Given the description of an element on the screen output the (x, y) to click on. 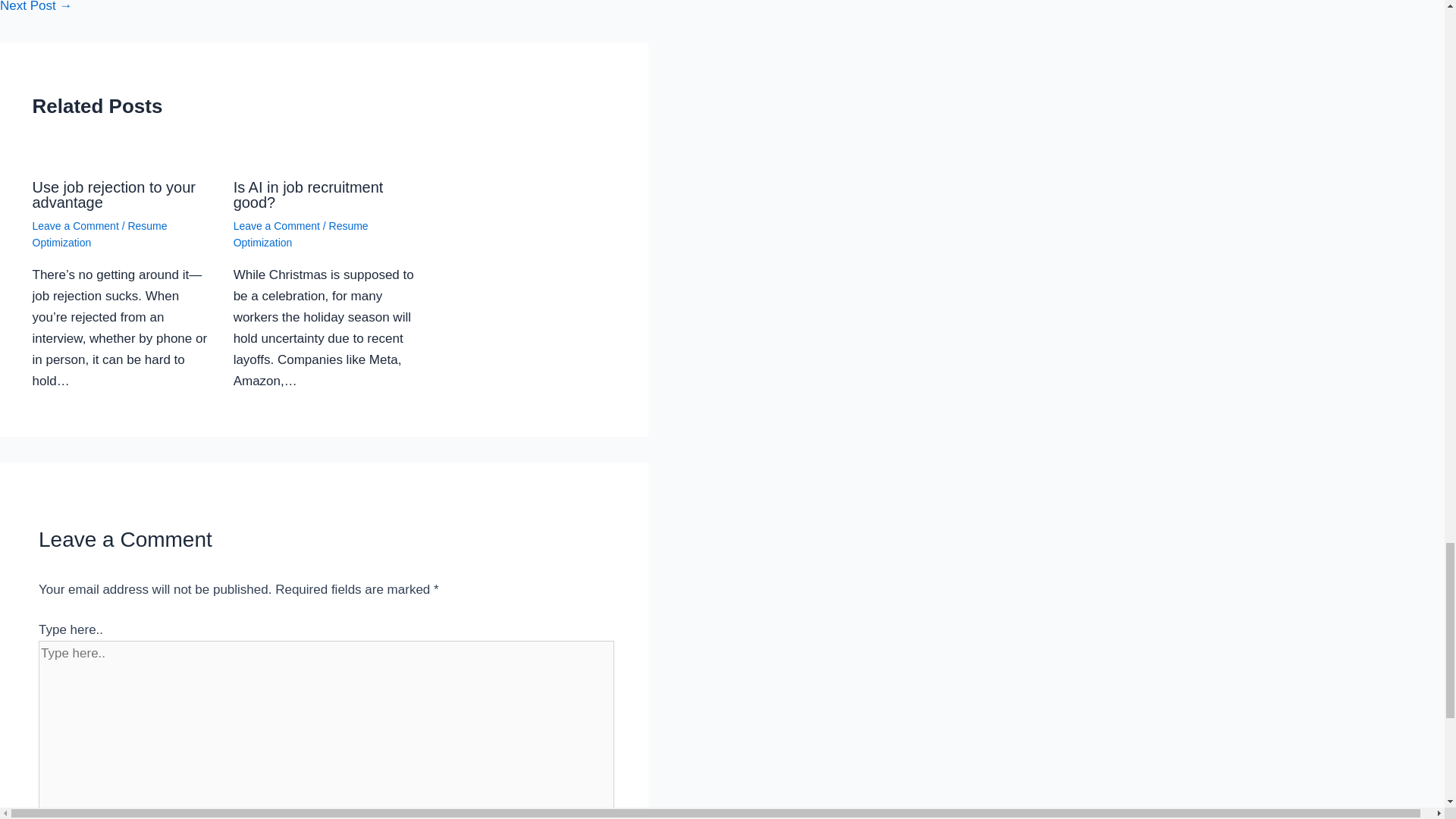
Leave a Comment (74, 225)
Resume Optimization (99, 234)
Use job rejection to your advantage (113, 194)
